Given the description of an element on the screen output the (x, y) to click on. 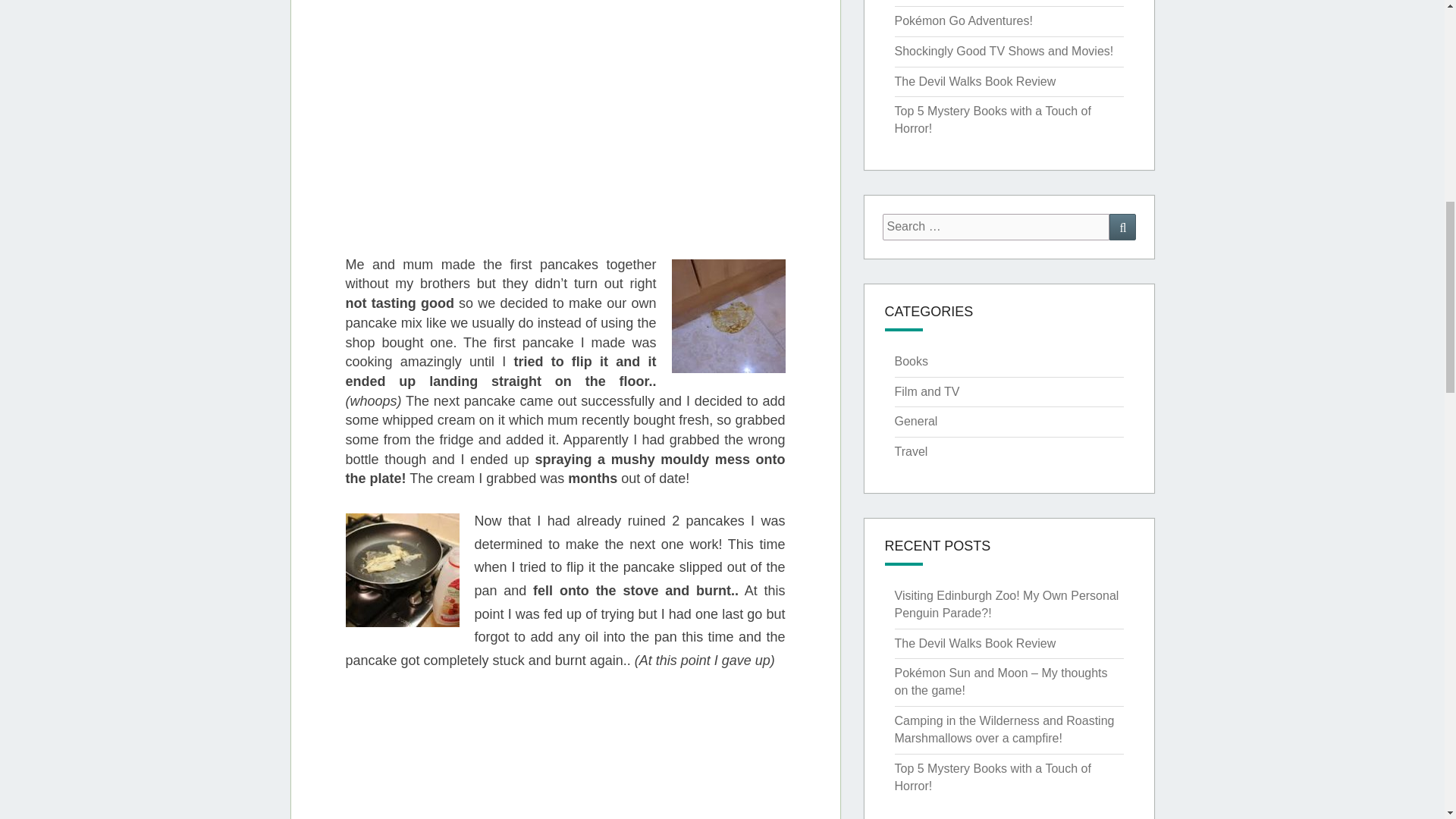
Search (1121, 226)
Advertisement (645, 154)
Shockingly Good TV Shows and Movies! (1004, 51)
Top 5 Mystery Books with a Touch of Horror! (992, 119)
The Devil Walks Book Review (976, 81)
